Given the description of an element on the screen output the (x, y) to click on. 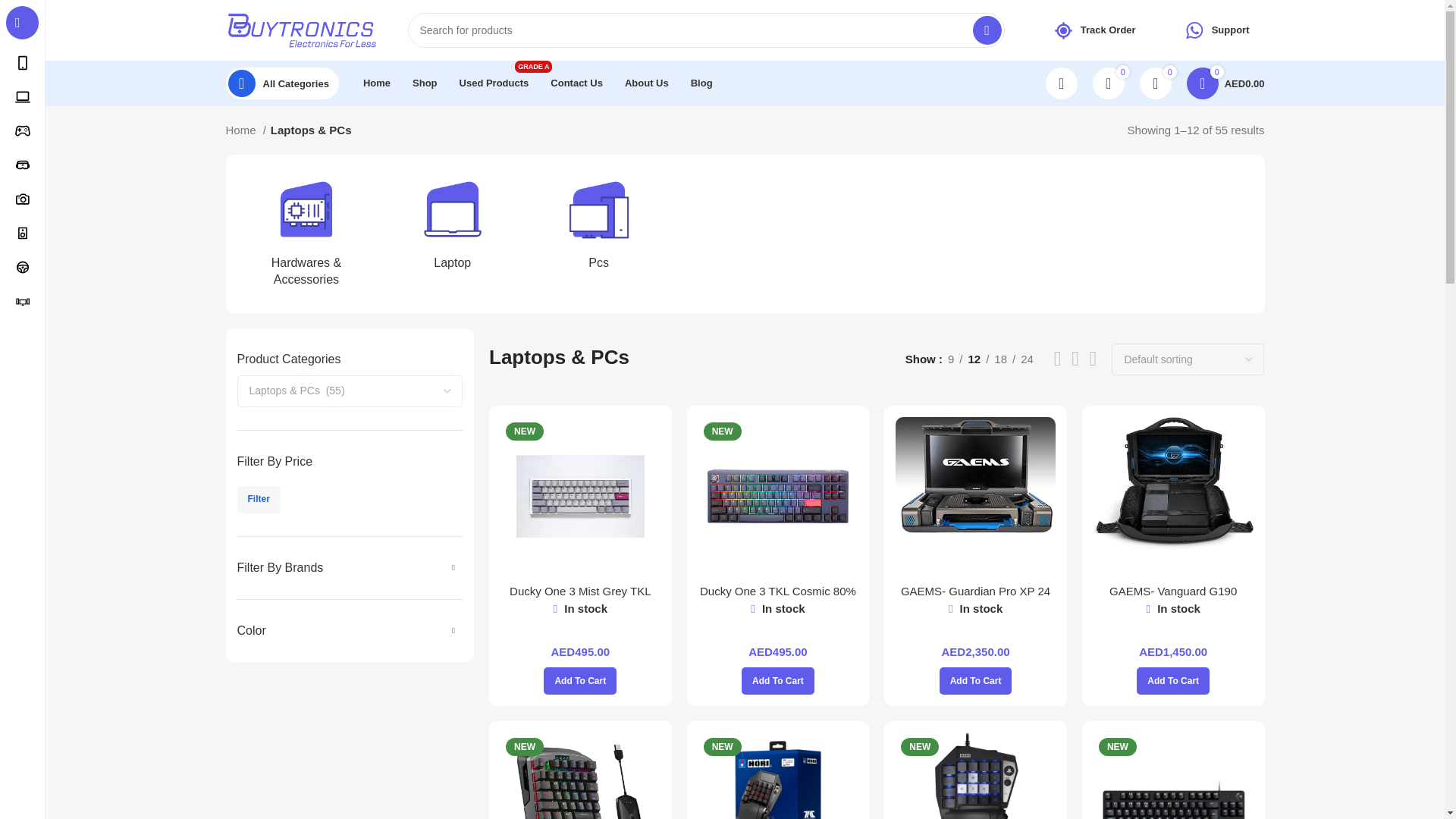
Search for products (705, 30)
wearable (22, 165)
Smartphones (22, 61)
audio (22, 233)
My account (1061, 82)
tv (22, 301)
ordertracker-img5-cu (1063, 29)
custom-WA (1194, 29)
car (22, 266)
Smartphones-1 (22, 130)
